Given the description of an element on the screen output the (x, y) to click on. 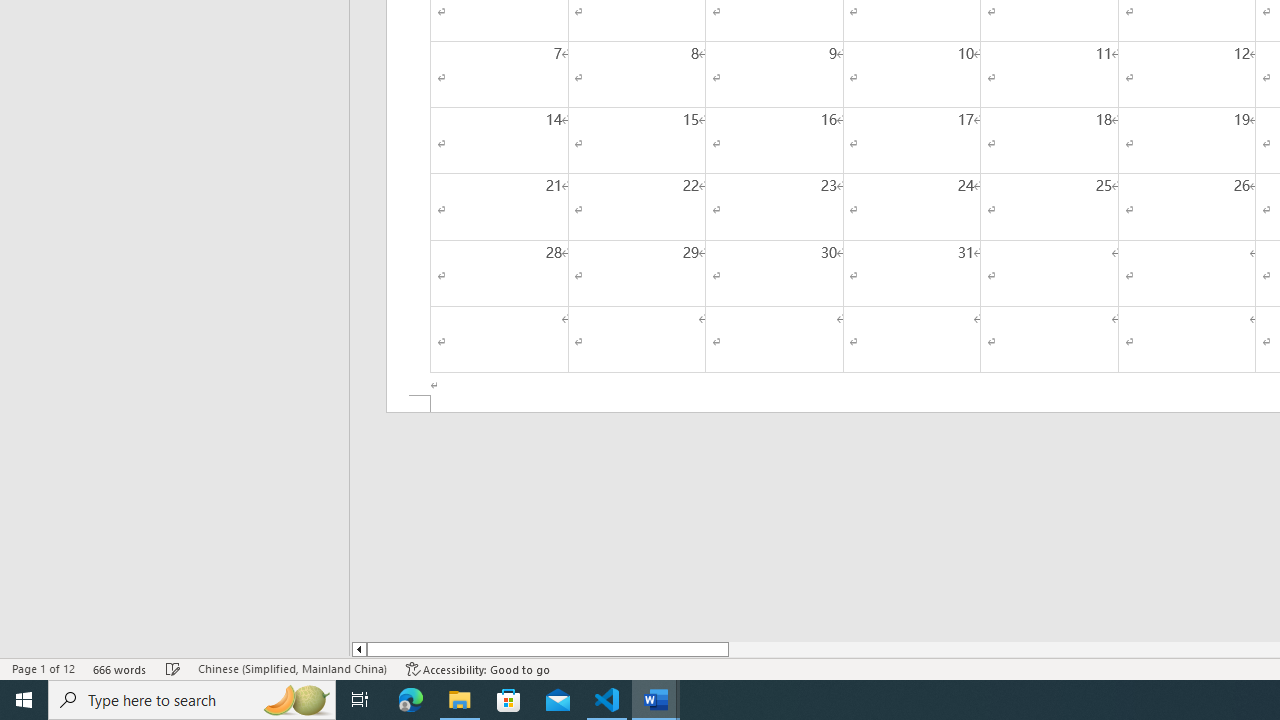
Column left (358, 649)
Language Chinese (Simplified, Mainland China) (292, 668)
Page Number Page 1 of 12 (43, 668)
Accessibility Checker Accessibility: Good to go (478, 668)
Spelling and Grammar Check Checking (173, 668)
Word Count 666 words (119, 668)
